Given the description of an element on the screen output the (x, y) to click on. 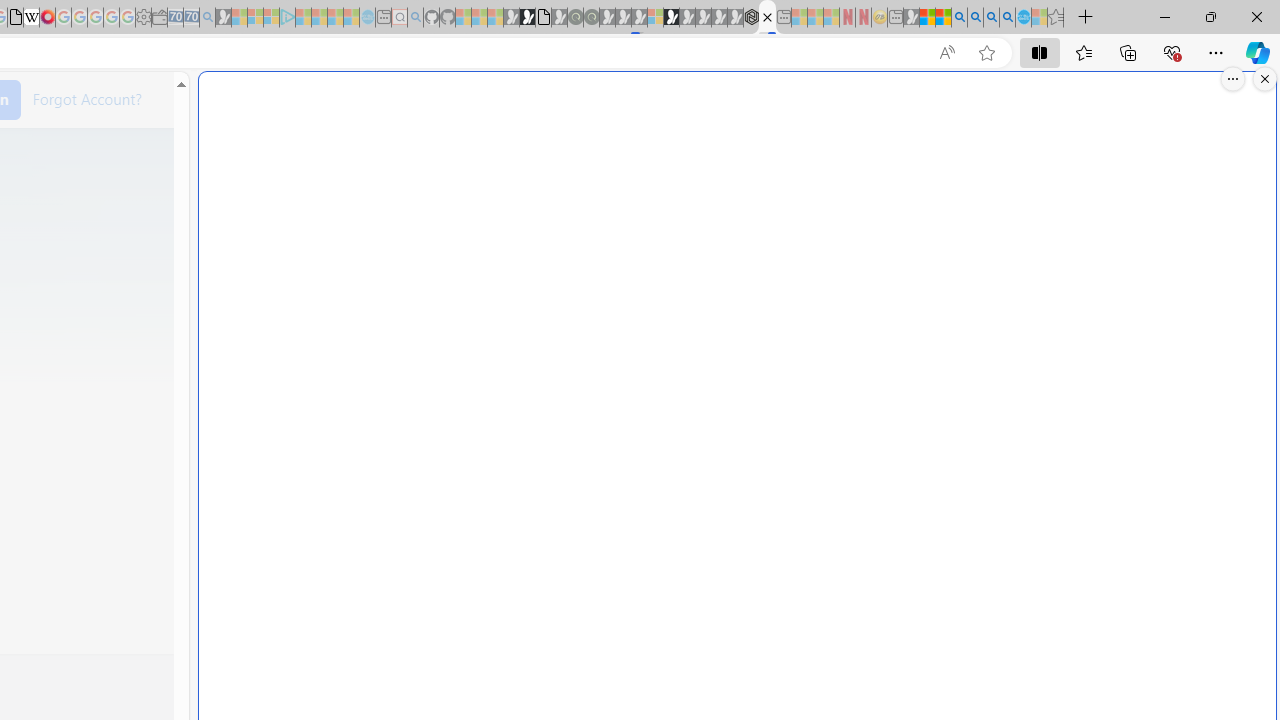
Settings - Sleeping (143, 17)
Future Focus Report 2024 - Sleeping (591, 17)
MSN - Sleeping (911, 17)
